Given the description of an element on the screen output the (x, y) to click on. 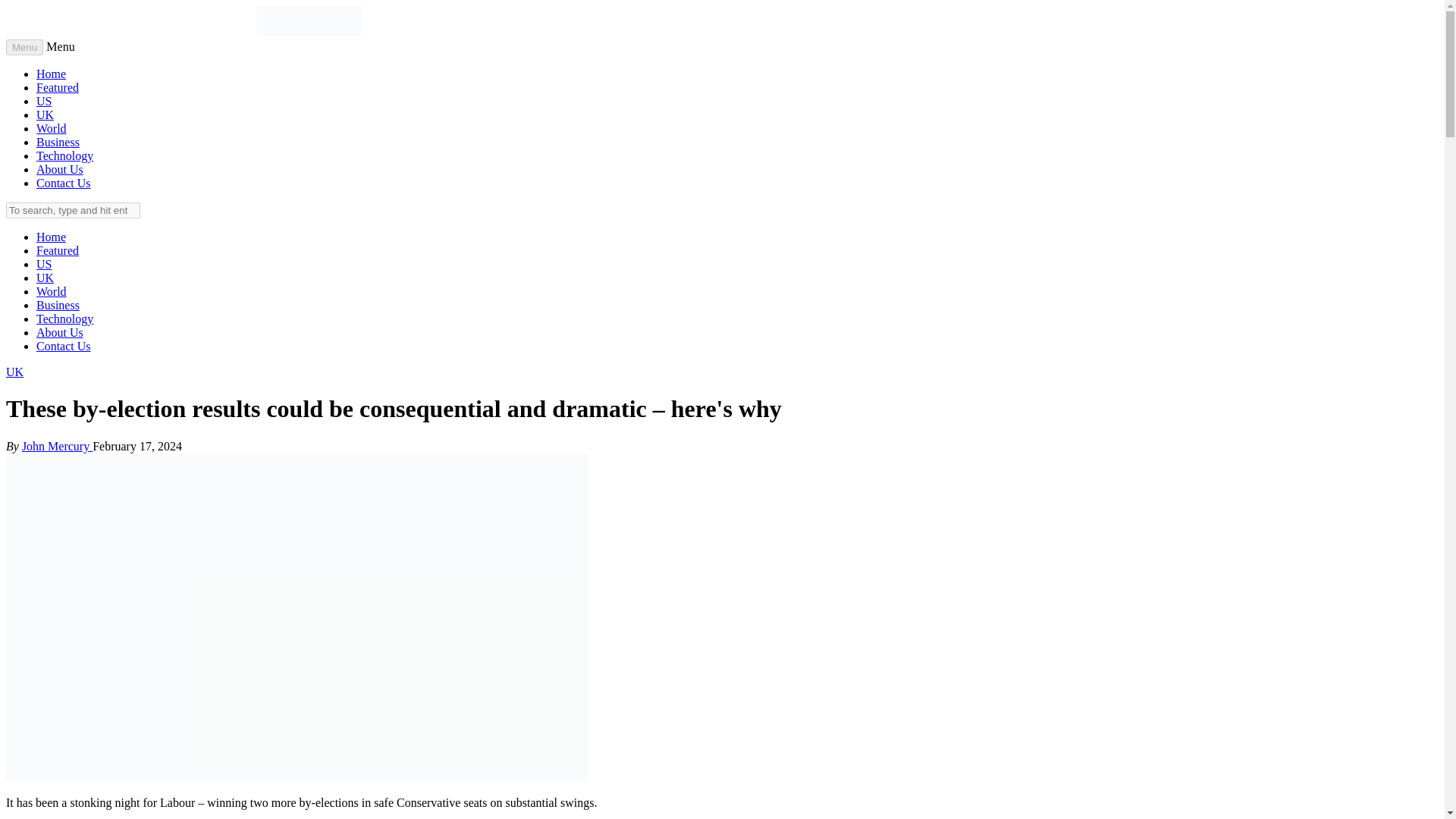
Menu (24, 47)
UK (14, 371)
About Us (59, 332)
Business (58, 305)
About Us (59, 169)
Contact Us (63, 182)
Contact Us (63, 345)
US (43, 101)
Home (50, 236)
UK (44, 114)
John Mercury (57, 445)
World (51, 128)
John Mercury (57, 445)
World (51, 291)
UK (44, 277)
